Given the description of an element on the screen output the (x, y) to click on. 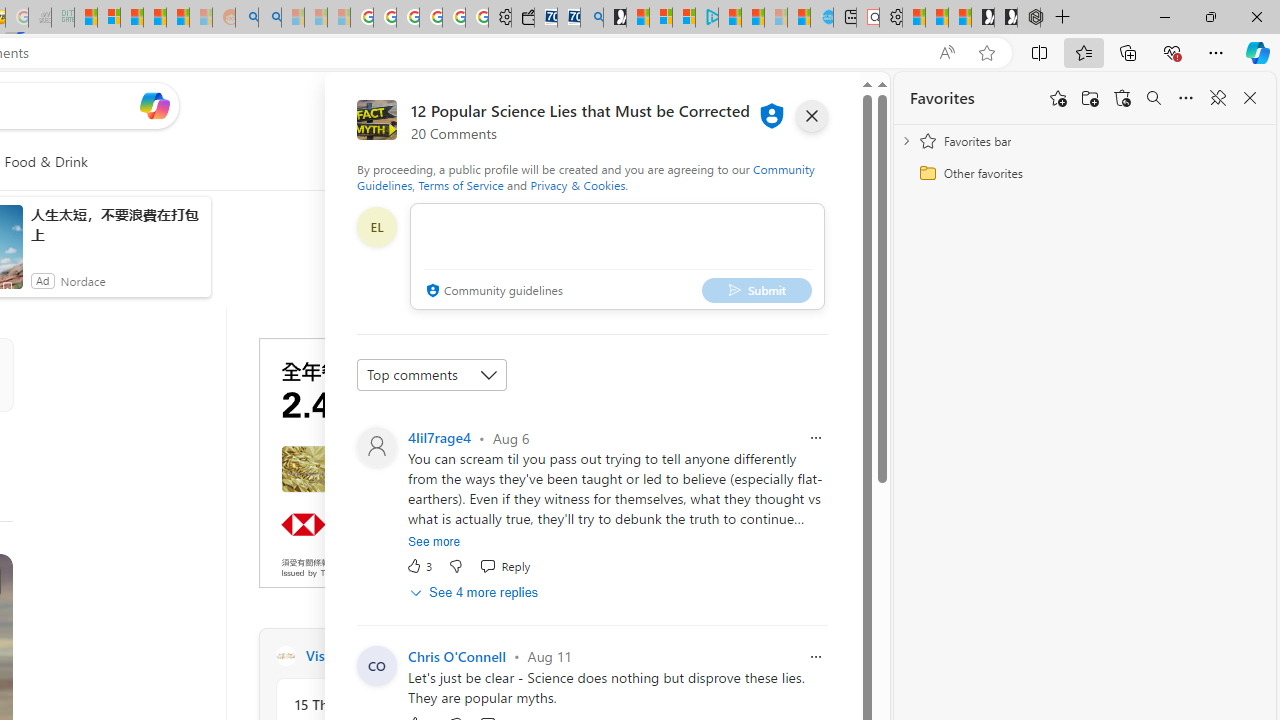
AutomationID: canvas (408, 462)
See 4 more replies (475, 592)
comment-box (617, 256)
Report comment (815, 656)
Student Loan Update: Forgiveness Program Ends This Month (177, 17)
